Given the description of an element on the screen output the (x, y) to click on. 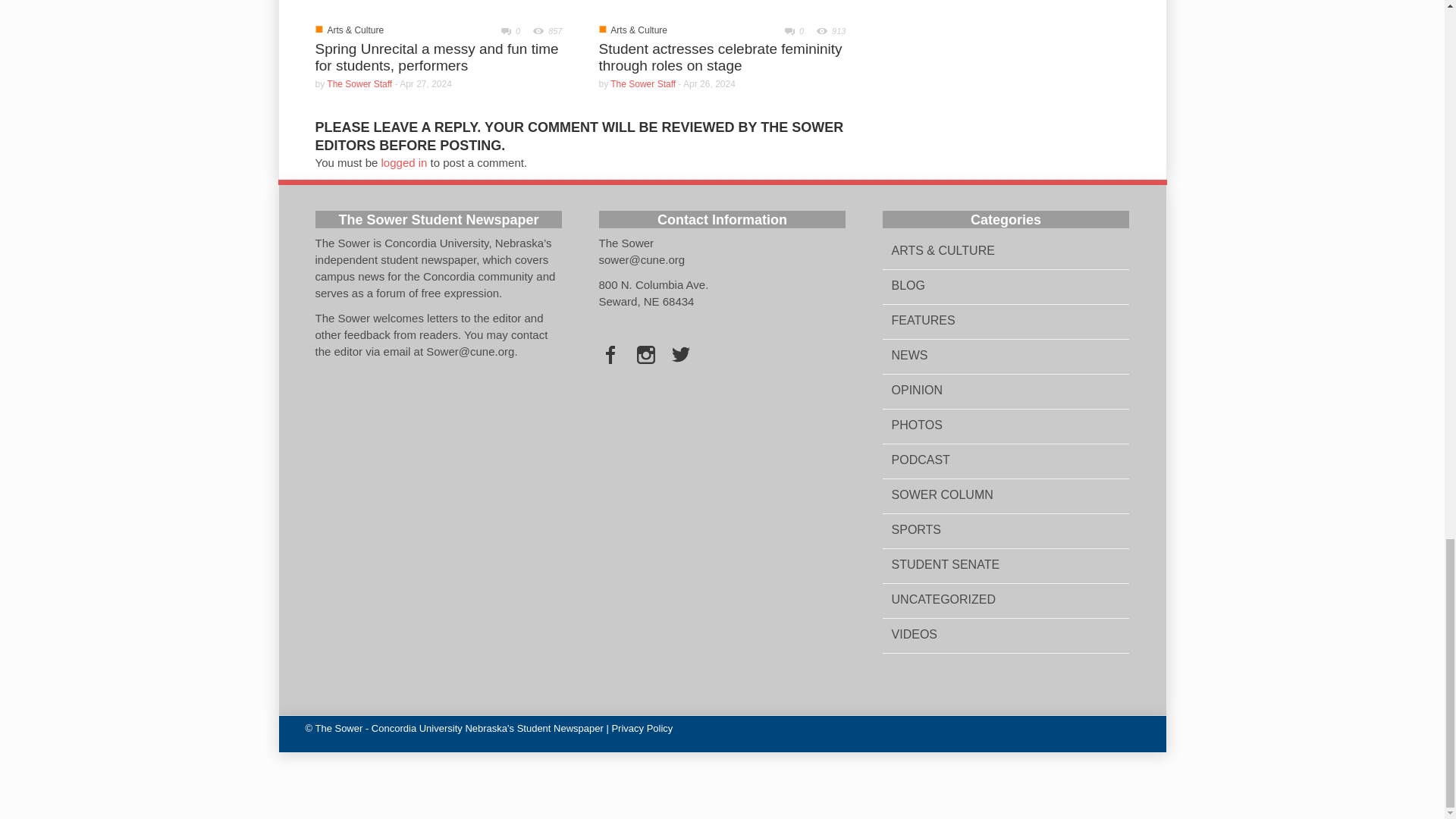
The Sower Staff (642, 83)
0 (788, 31)
logged in (404, 162)
0 (504, 31)
The Sower Staff (358, 83)
